Given the description of an element on the screen output the (x, y) to click on. 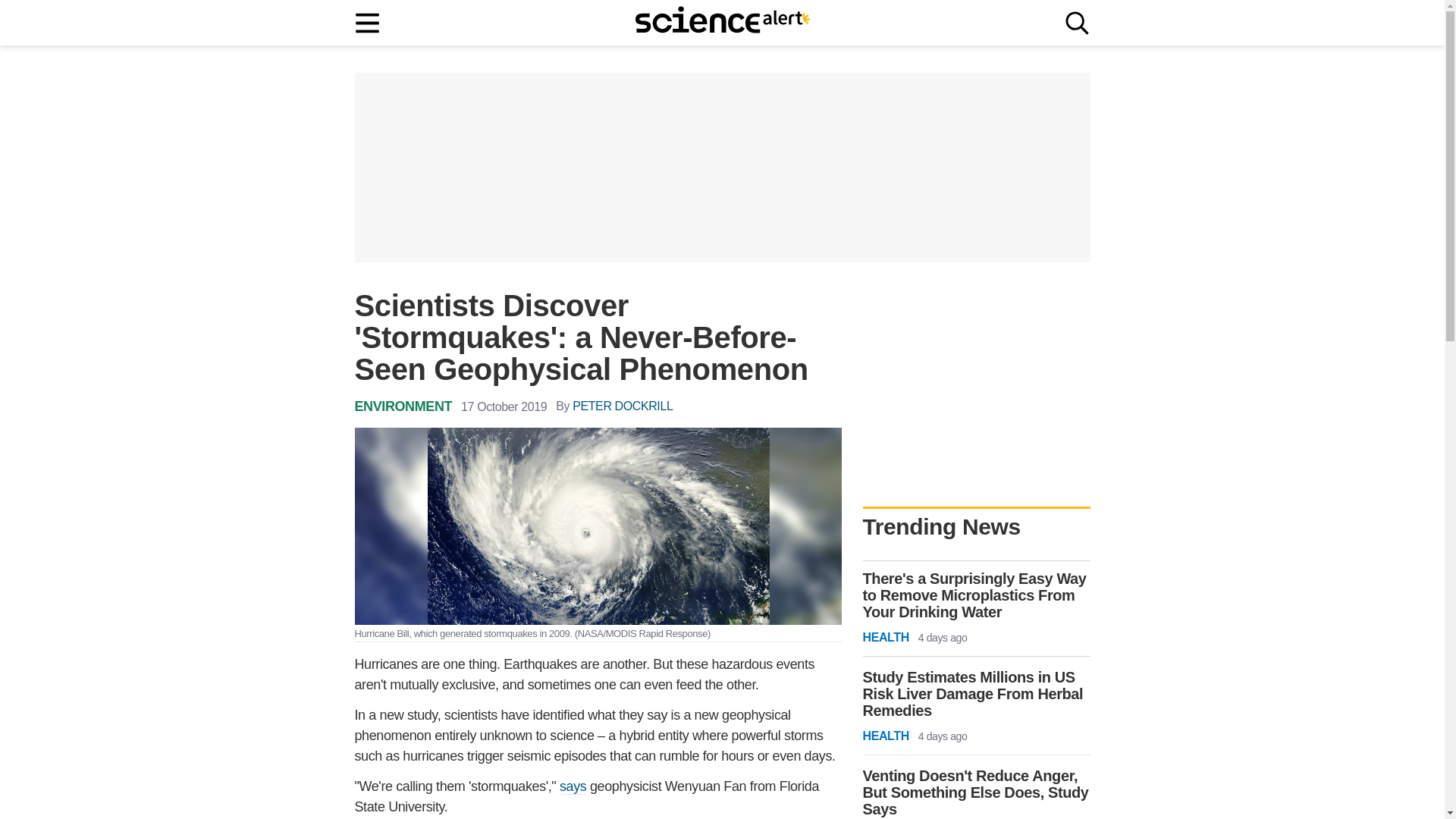
PETER DOCKRILL (622, 405)
HEALTH (885, 637)
says (572, 786)
ENVIRONMENT (403, 406)
